Given the description of an element on the screen output the (x, y) to click on. 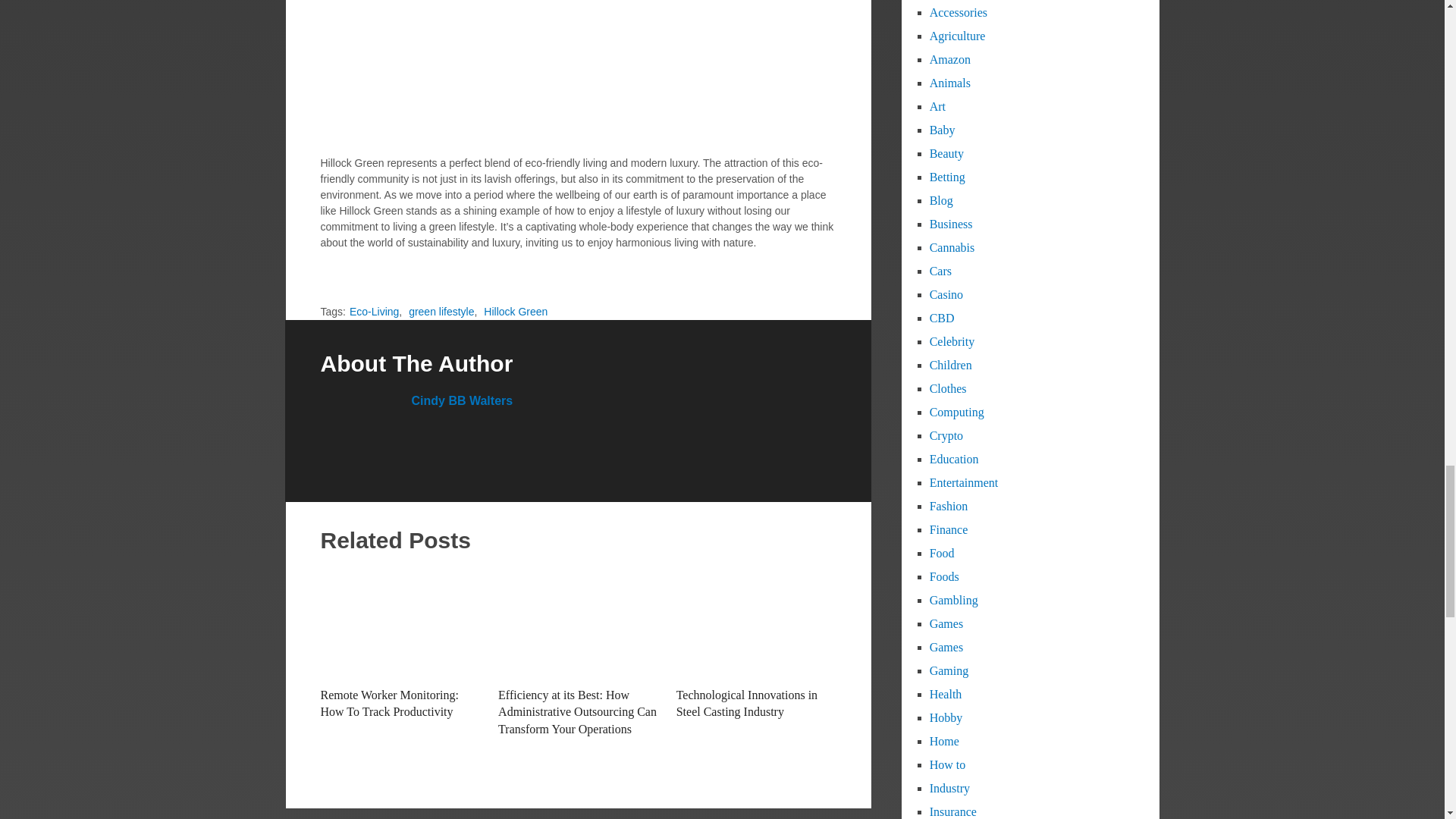
Eco-Living (373, 311)
Remote Worker Monitoring: How To Track Productivity (400, 622)
Cindy BB Walters (461, 400)
Remote Worker Monitoring: How To Track Productivity (389, 703)
green lifestyle (441, 311)
Technological Innovations in Steel Casting Industry (746, 703)
Hillock Green (515, 311)
Remote Worker Monitoring: How To Track Productivity (389, 703)
Technological Innovations in Steel Casting Industry (756, 622)
